Given the description of an element on the screen output the (x, y) to click on. 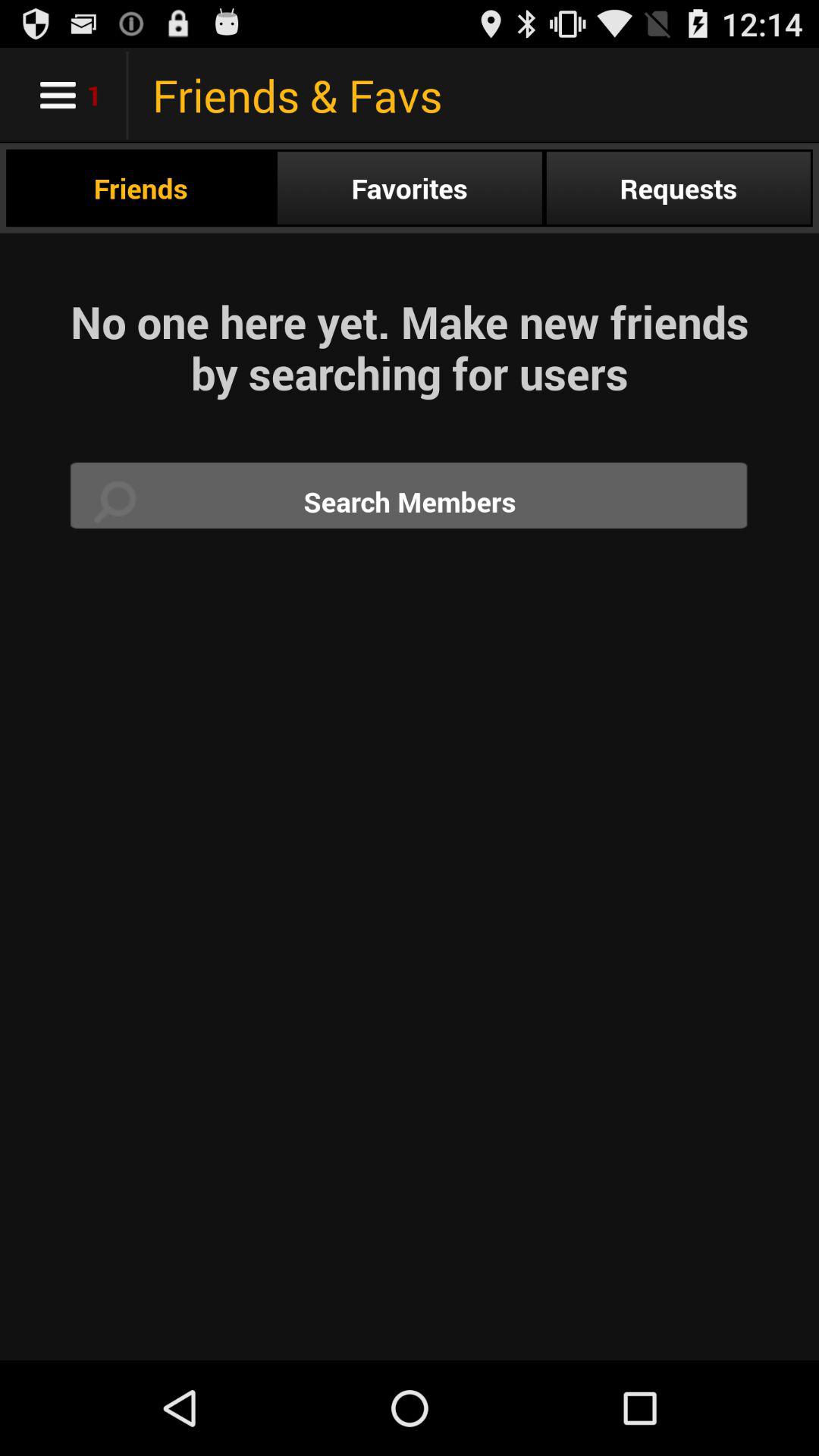
open the radio button next to requests item (409, 187)
